Given the description of an element on the screen output the (x, y) to click on. 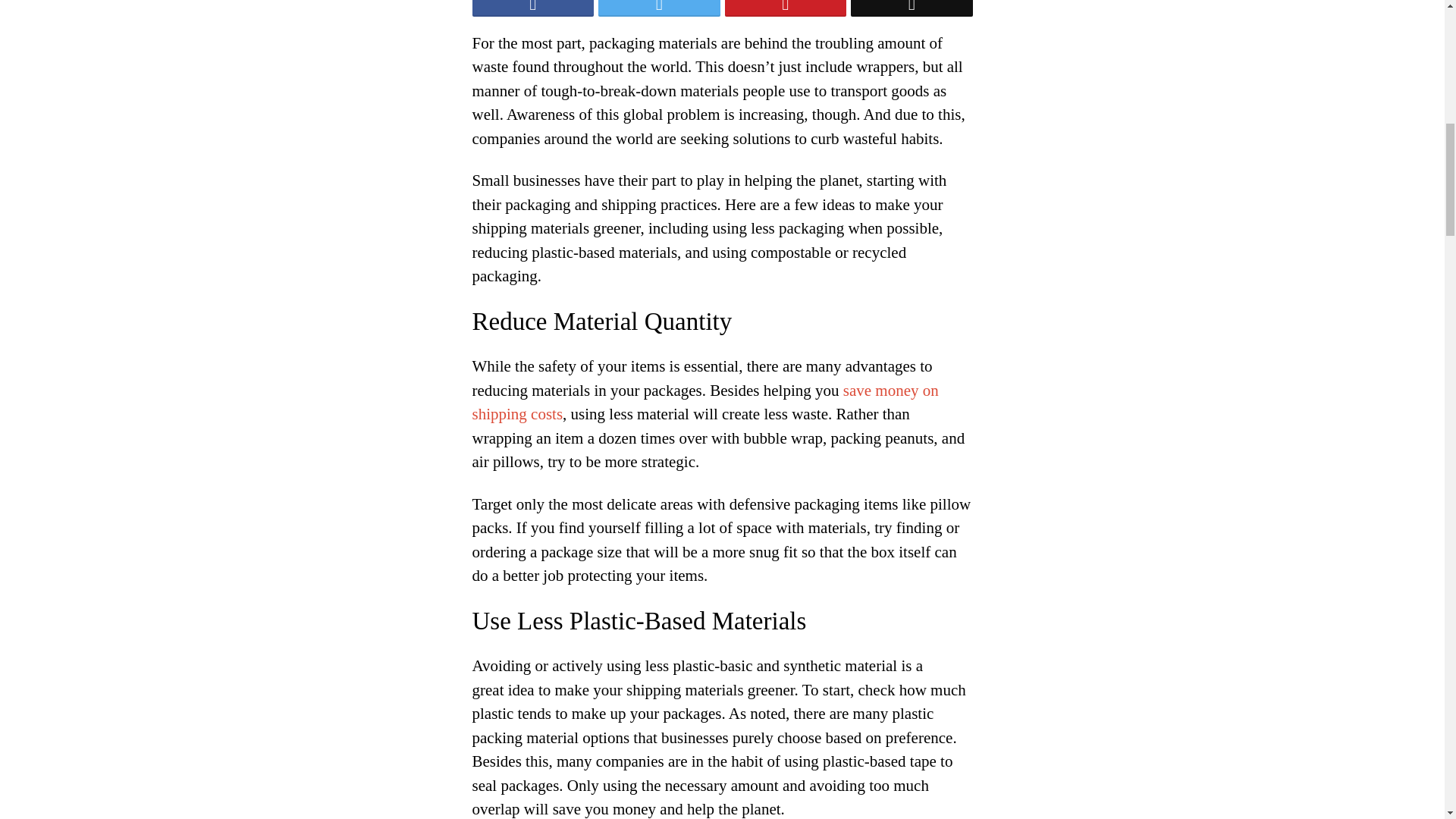
save money on shipping costs (704, 402)
